Given the description of an element on the screen output the (x, y) to click on. 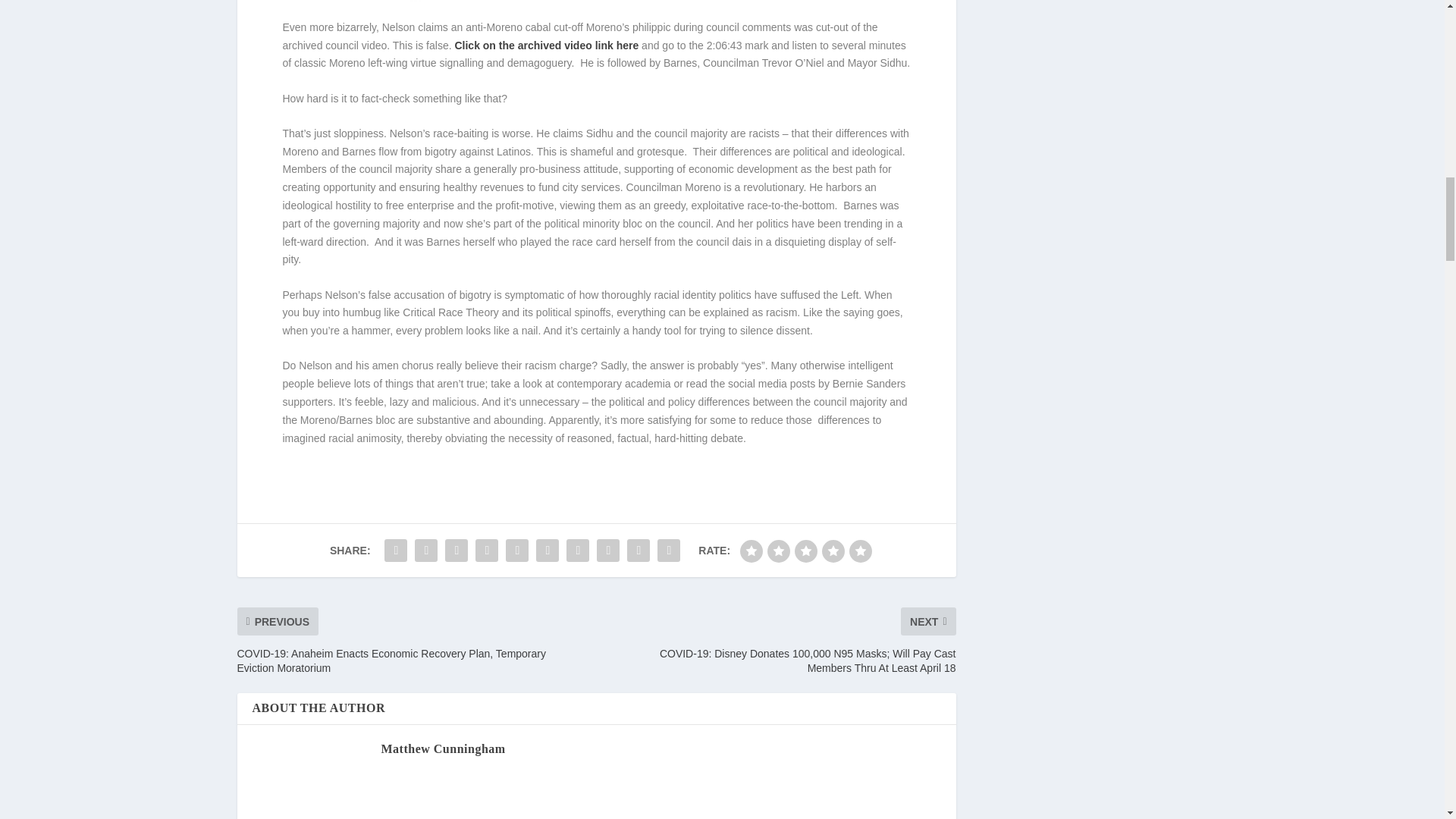
Click on the archived video link here (546, 45)
